Given the description of an element on the screen output the (x, y) to click on. 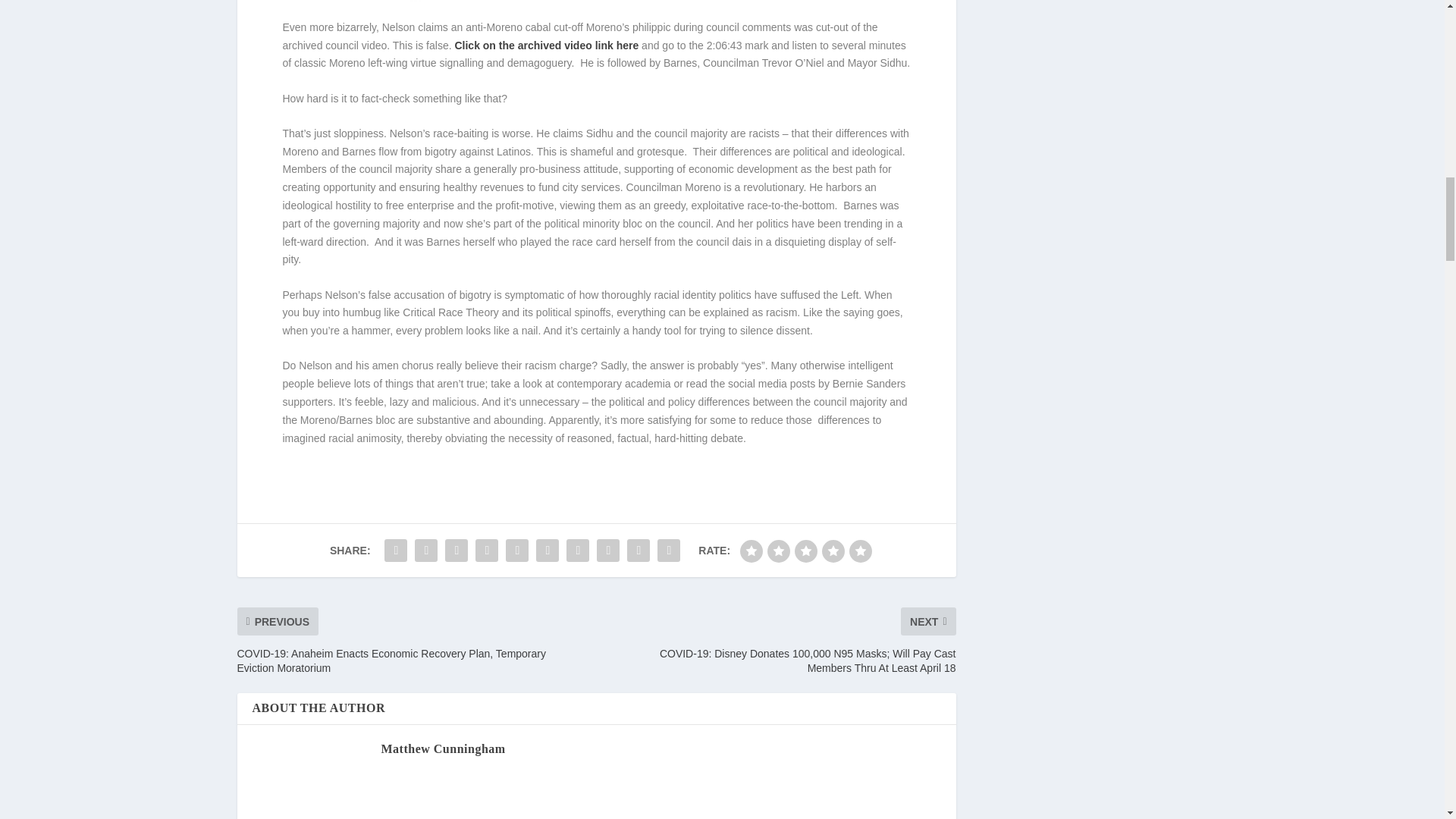
Click on the archived video link here (546, 45)
